Given the description of an element on the screen output the (x, y) to click on. 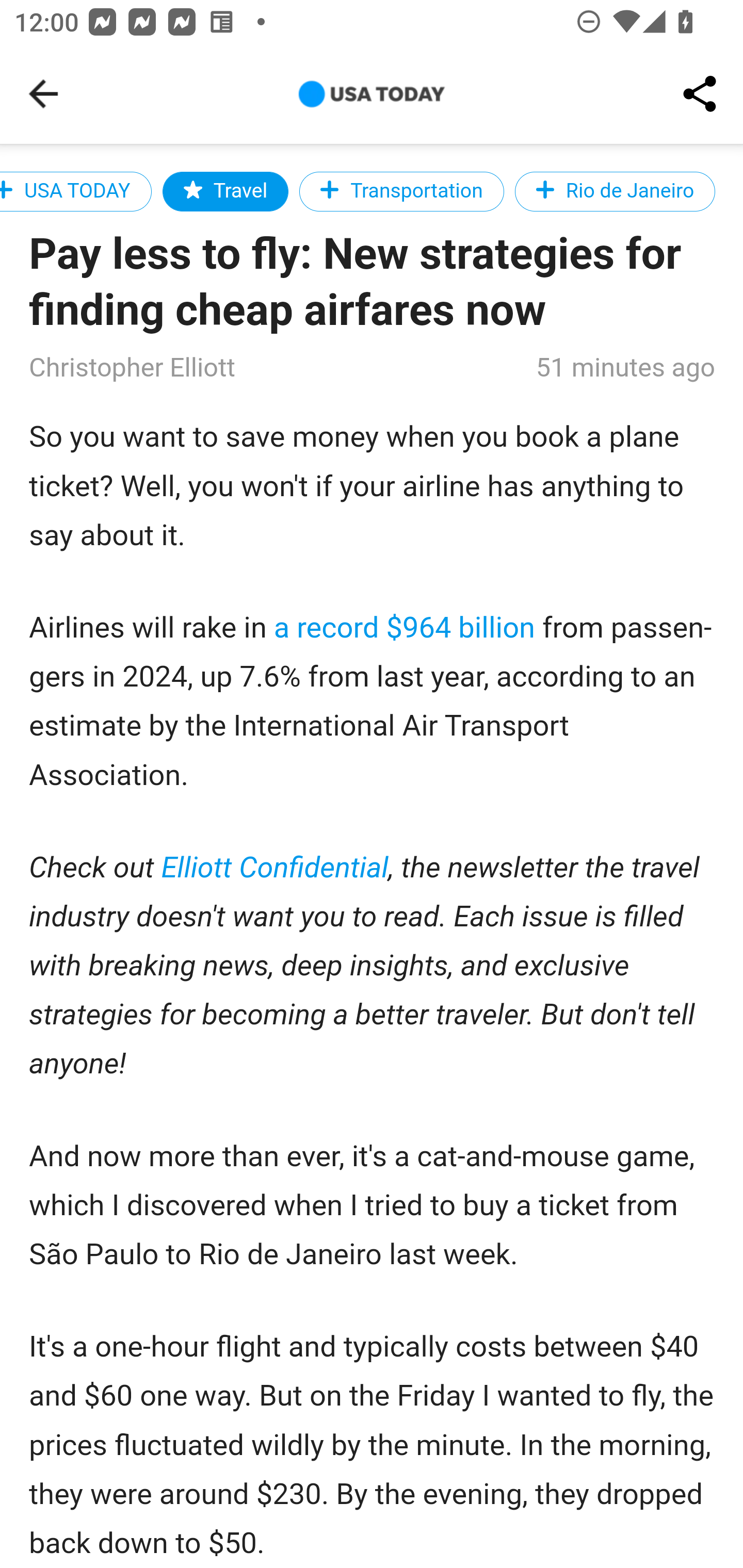
USA TODAY (75, 191)
Travel (224, 191)
Transportation (401, 191)
Rio de Janeiro (614, 191)
a record $964 billion (404, 627)
Elliott Confidential (275, 868)
